Given the description of an element on the screen output the (x, y) to click on. 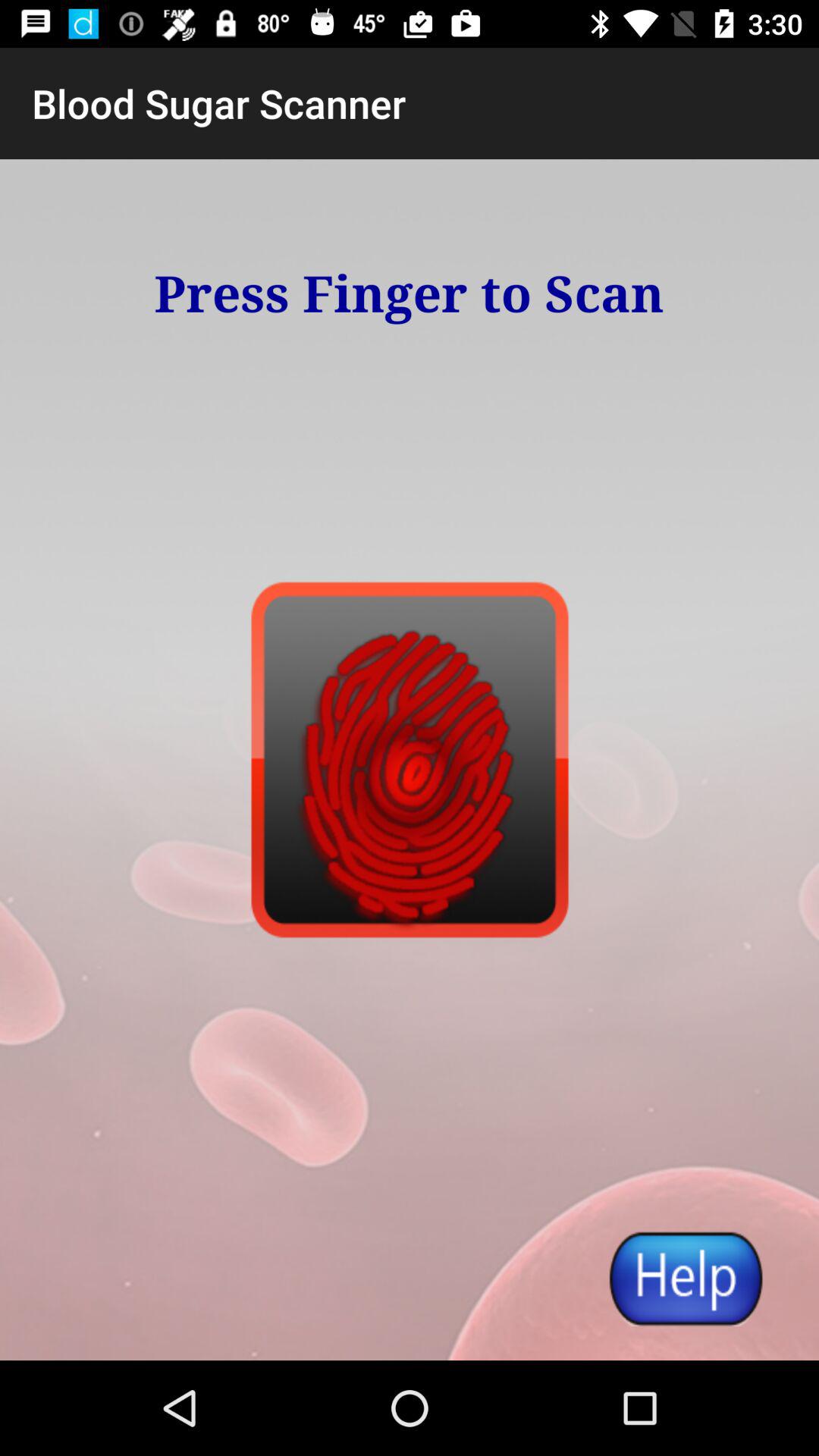
help (684, 1278)
